Given the description of an element on the screen output the (x, y) to click on. 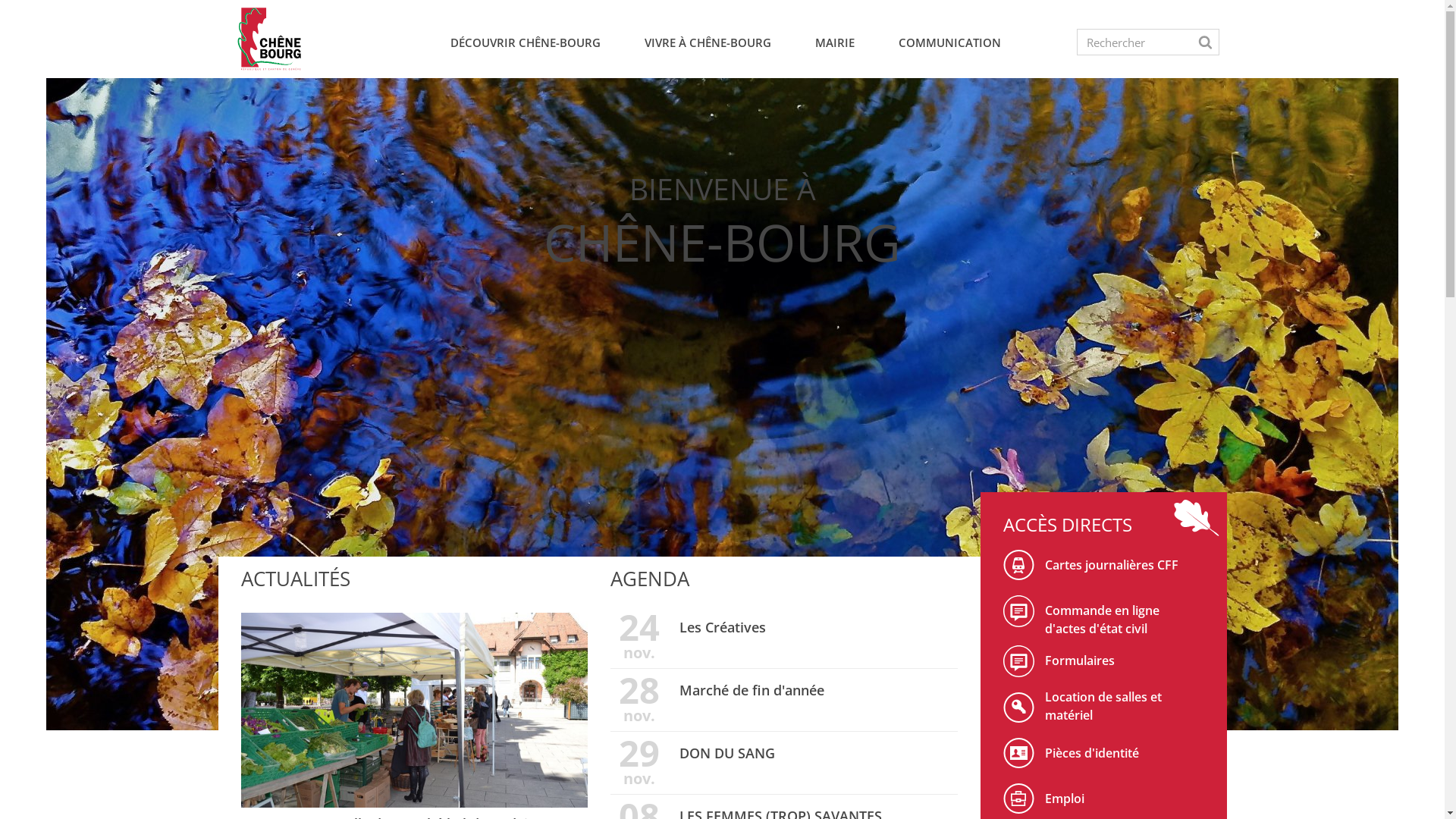
DON DU SANG Element type: text (727, 752)
Formulaires Element type: hover (1017, 668)
Emploi Element type: text (1102, 802)
MAIRIE Element type: text (834, 47)
28
nov. Element type: text (639, 700)
Formulaires Element type: text (1102, 664)
29
nov. Element type: text (639, 763)
COMMUNICATION Element type: text (949, 47)
Home Element type: hover (268, 38)
24
nov. Element type: text (639, 637)
